Given the description of an element on the screen output the (x, y) to click on. 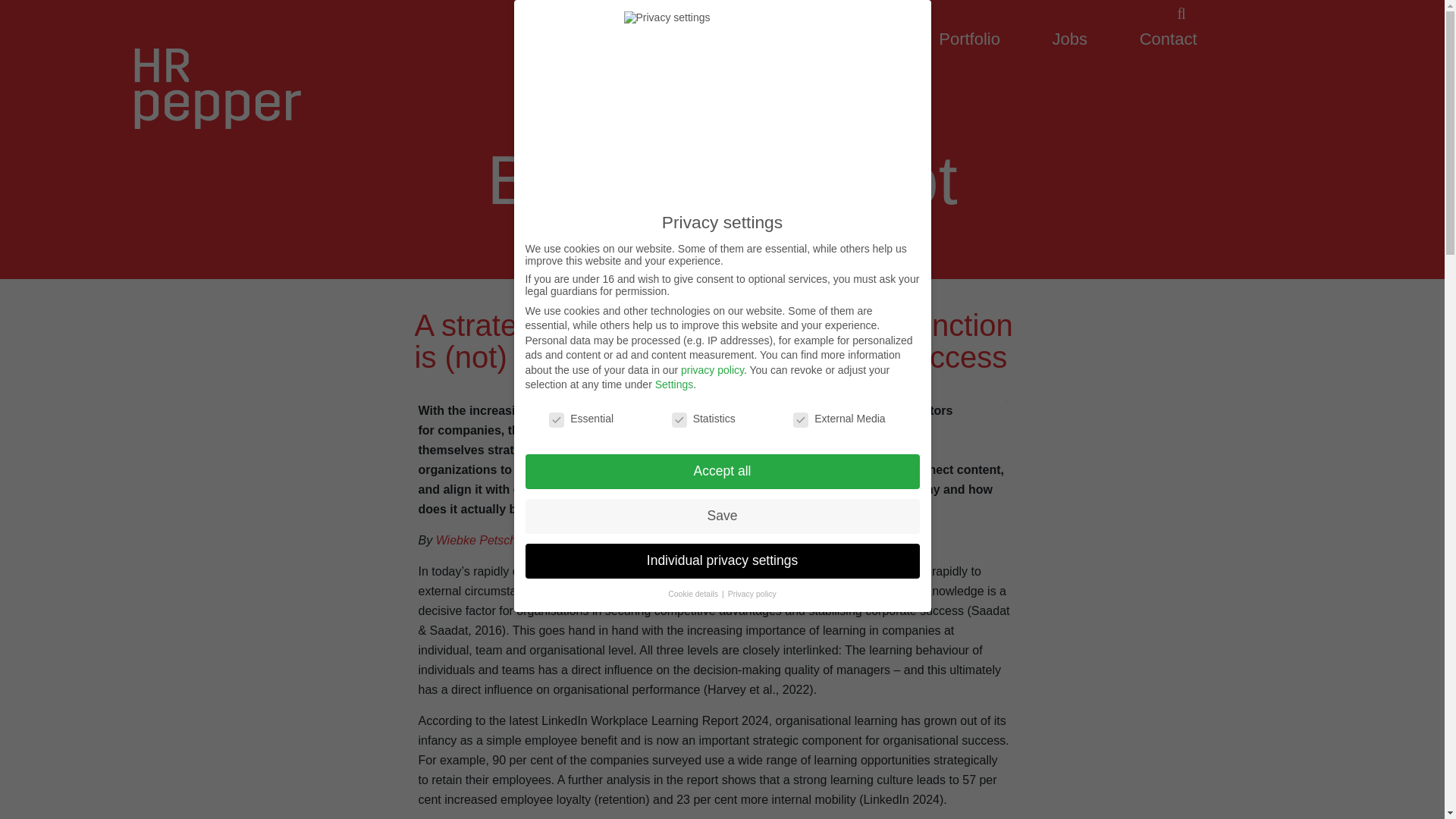
HRpepper (848, 38)
Save (721, 515)
HRpepper (848, 38)
Wiebke Petsch (475, 540)
privacy policy (712, 369)
Contact (1168, 38)
Portfolio (969, 38)
Settings (674, 384)
People (732, 38)
People (732, 38)
Jobs (1069, 38)
Katherina Bravo (586, 540)
Accept all (721, 471)
Portfolio (969, 38)
Jobs (1069, 38)
